Given the description of an element on the screen output the (x, y) to click on. 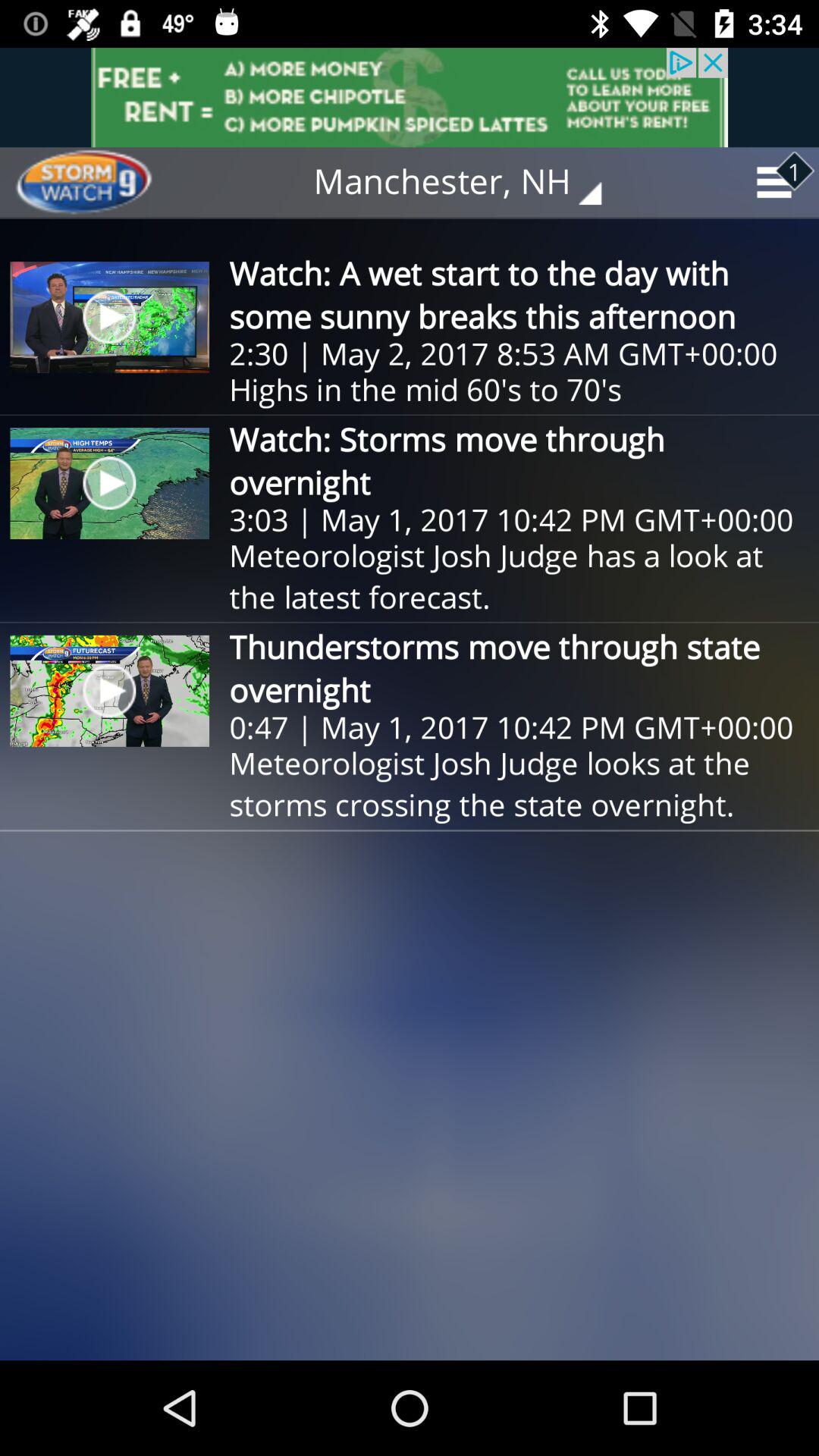
click item above manchester, nh icon (409, 97)
